Given the description of an element on the screen output the (x, y) to click on. 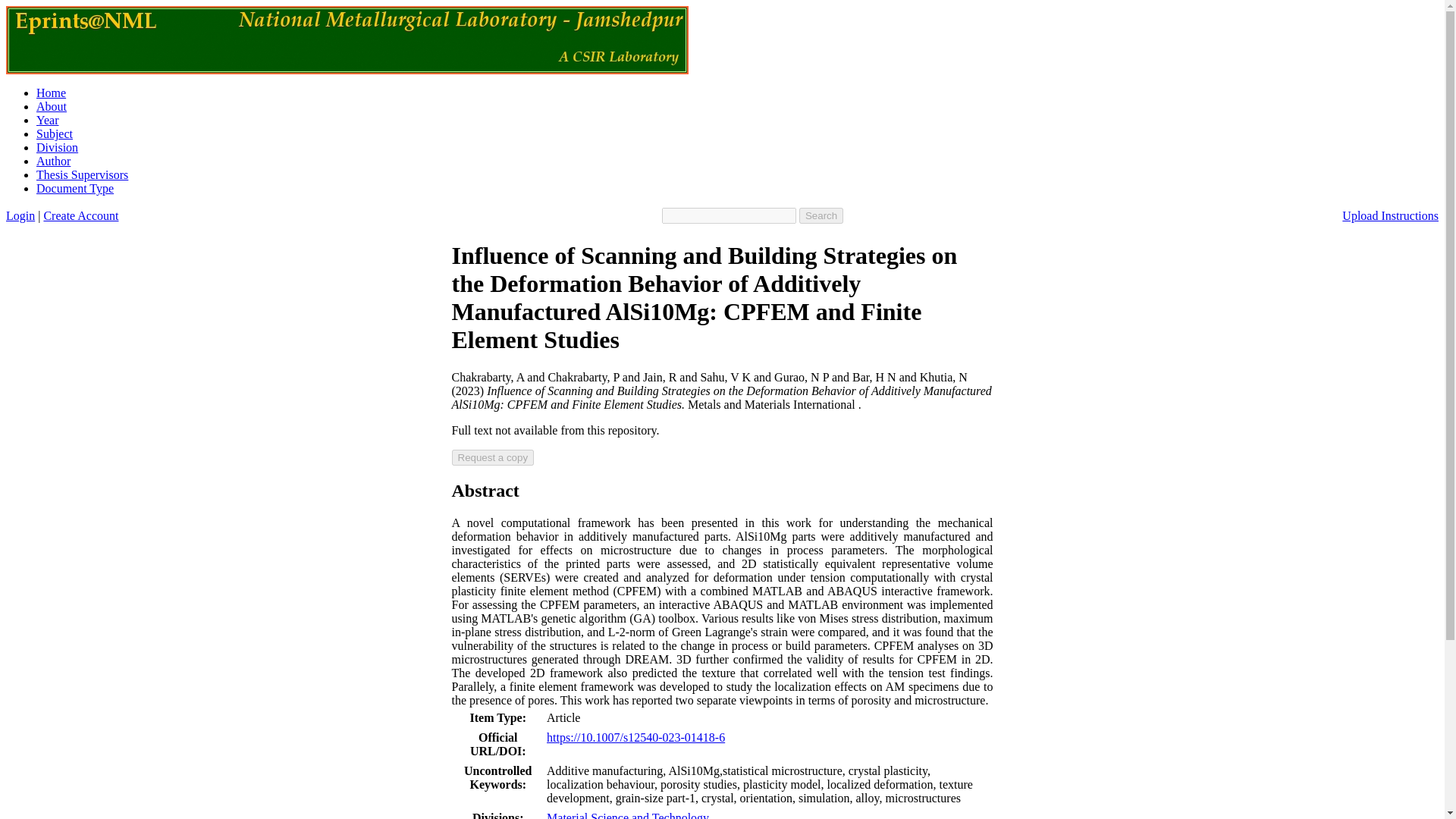
Search (821, 215)
Document Type (74, 187)
Material Science and Technology (628, 815)
About (51, 106)
Login (19, 215)
Search (821, 215)
Author (52, 160)
Subject (54, 133)
Create Account (80, 215)
Year (47, 119)
Search (821, 215)
Request a copy (492, 457)
Request a copy (492, 457)
Division (57, 146)
Thesis Supervisors (82, 174)
